Given the description of an element on the screen output the (x, y) to click on. 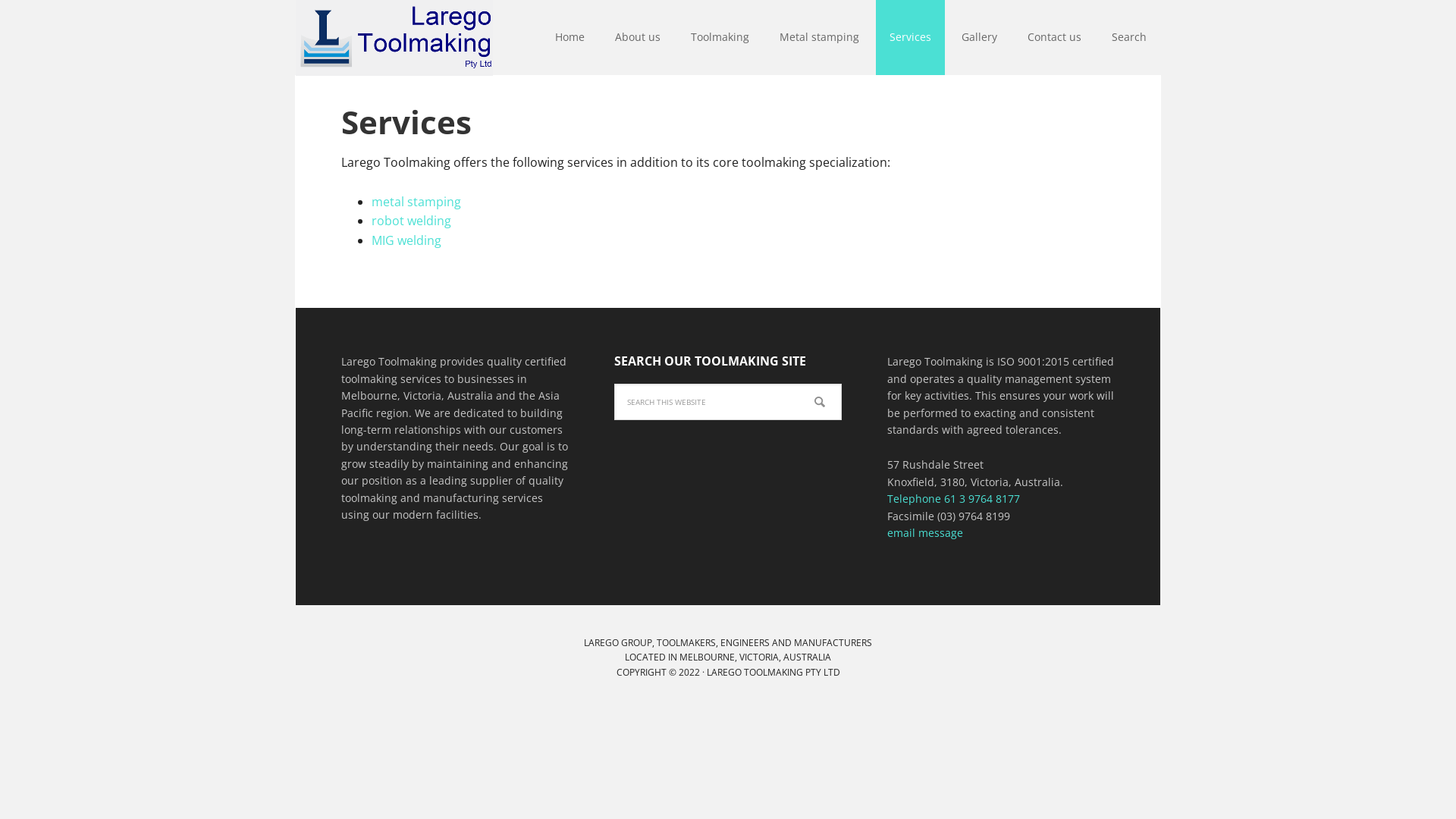
MIG welding Element type: text (406, 240)
Toolmaking Melbourne Victoria Australia Element type: text (393, 37)
Gallery Element type: text (978, 37)
Metal stamping Element type: text (818, 37)
Telephone 61 3 9764 8177 Element type: text (953, 498)
Services Element type: text (909, 37)
email message Element type: text (925, 532)
robot welding Element type: text (411, 220)
Contact us Element type: text (1054, 37)
About us Element type: text (637, 37)
Search Element type: text (840, 382)
metal stamping Element type: text (416, 201)
Toolmaking Element type: text (719, 37)
Search Element type: text (1129, 37)
Home Element type: text (569, 37)
